Given the description of an element on the screen output the (x, y) to click on. 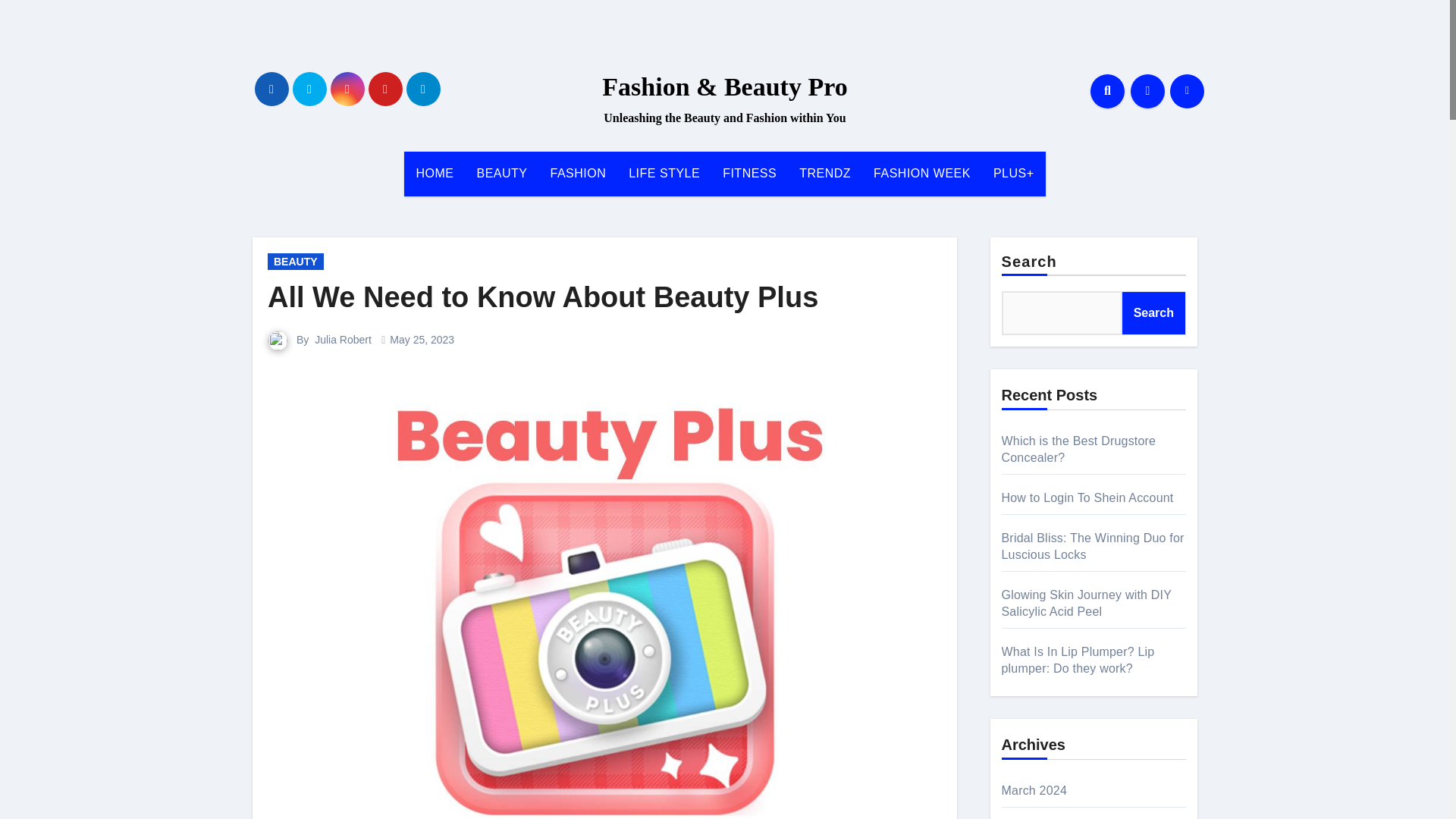
FASHION (577, 173)
All We Need to Know About Beauty Plus (542, 296)
Julia Robert (342, 339)
FITNESS (749, 173)
BEAUTY (295, 261)
HOME (434, 173)
LIFE STYLE (664, 173)
LIFE STYLE (664, 173)
FASHION WEEK (921, 173)
HOME (434, 173)
